Given the description of an element on the screen output the (x, y) to click on. 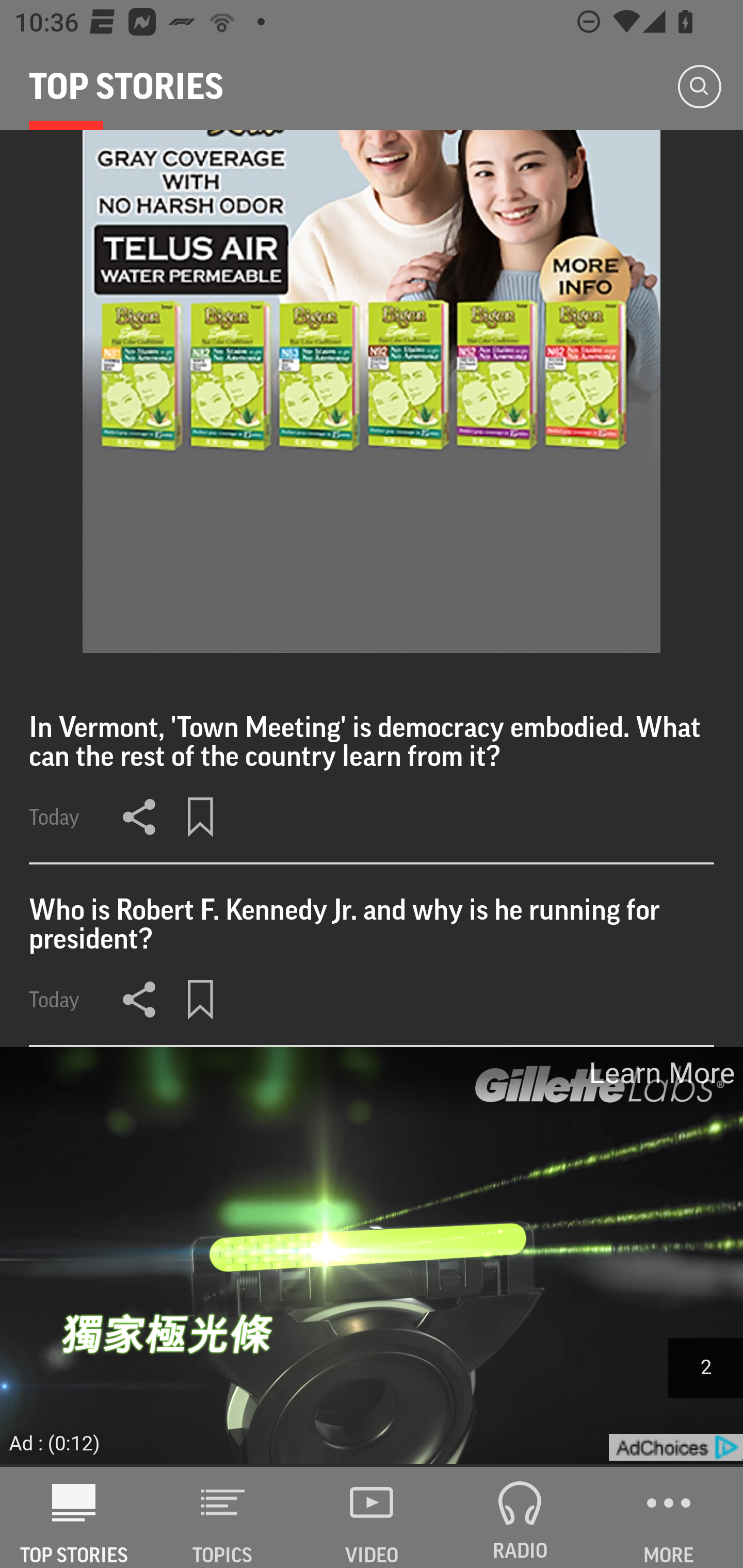
8 (371, 391)
Learn More (660, 1073)
Skip Ad Countdown (705, 1366)
Ad : (0:12) (54, 1442)
get?name=admarker-full-tl (675, 1447)
AP News TOP STORIES (74, 1517)
TOPICS (222, 1517)
VIDEO (371, 1517)
RADIO (519, 1517)
MORE (668, 1517)
